Given the description of an element on the screen output the (x, y) to click on. 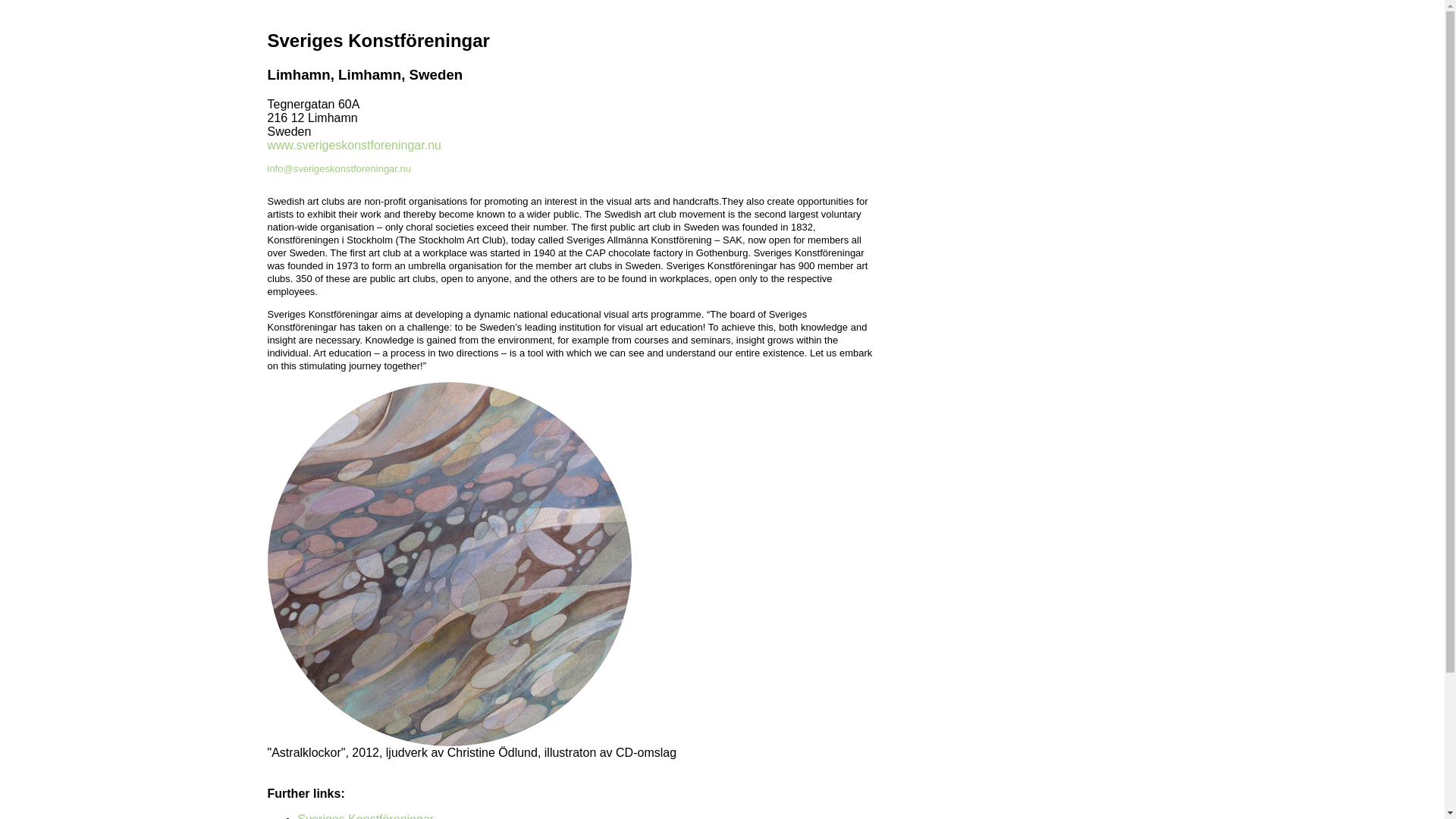
www.sverigeskonstforeningar.nu (353, 144)
